Given the description of an element on the screen output the (x, y) to click on. 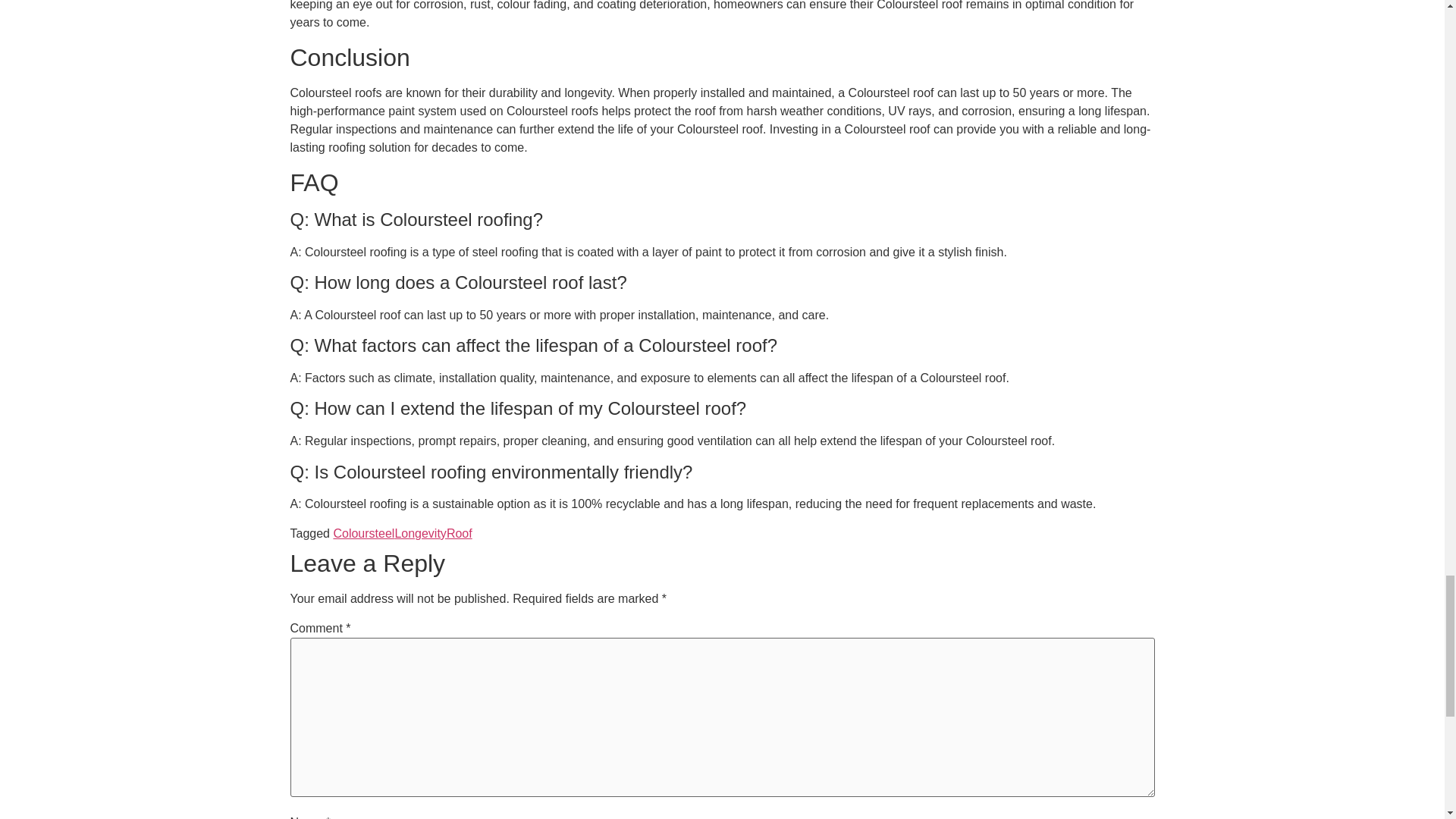
Roof (458, 533)
Longevity (420, 533)
Coloursteel (363, 533)
